Given the description of an element on the screen output the (x, y) to click on. 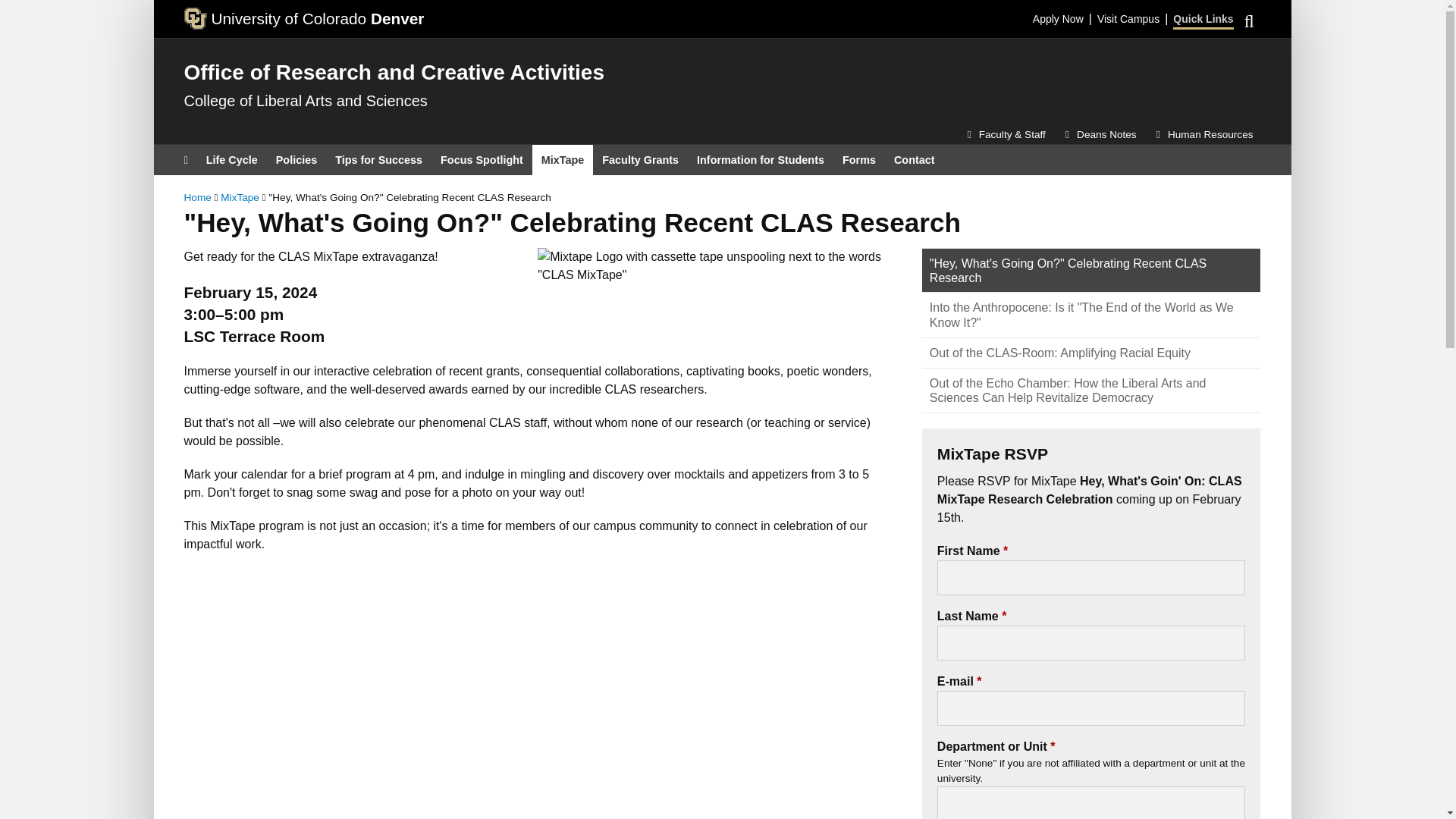
Quick Links (1203, 15)
Apply Now (1057, 14)
Office of Research and Creative Activities (393, 72)
Visit Campus (1127, 14)
Home (393, 72)
College of Liberal Arts and Sciences (304, 100)
